Given the description of an element on the screen output the (x, y) to click on. 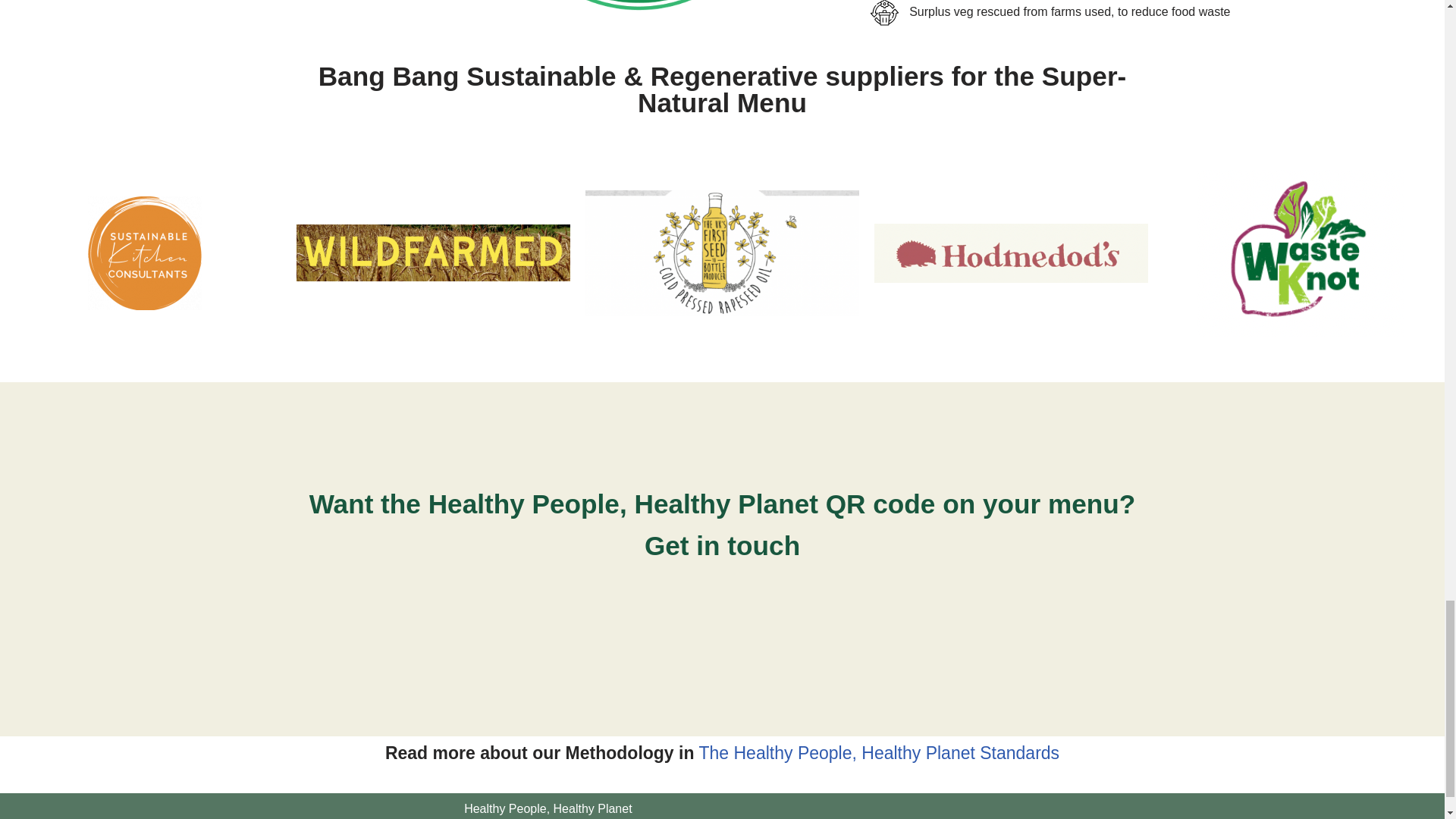
The Healthy People, Healthy Planet Standards (878, 752)
